Given the description of an element on the screen output the (x, y) to click on. 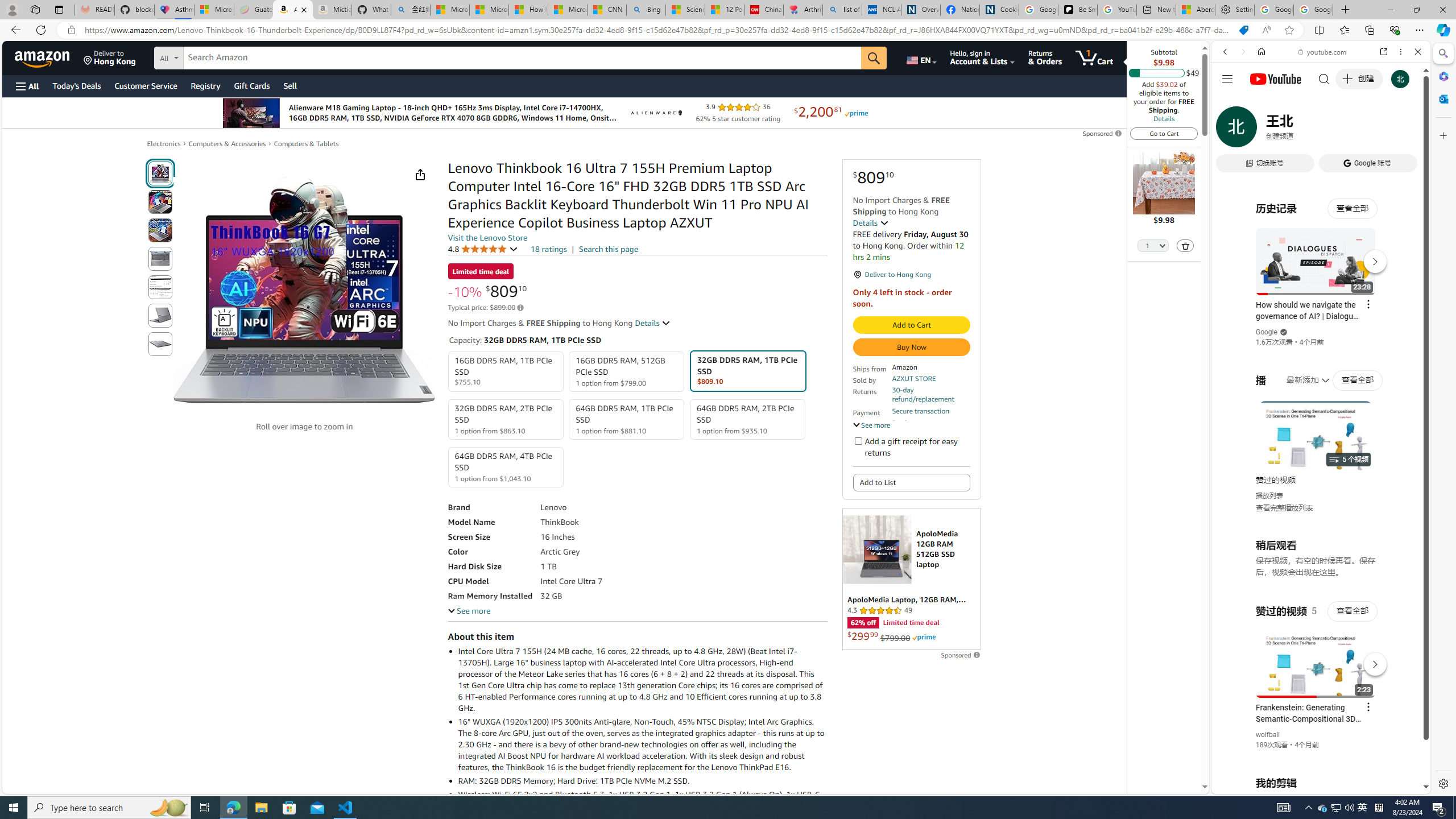
Music (1320, 309)
Registry (205, 85)
Restore (1416, 9)
64GB DDR5 RAM, 1TB PCIe SSD 1 option from $881.10 (626, 418)
wolfball (1268, 734)
Google (1320, 281)
Delete (1184, 245)
Search Filter, Search Tools (1350, 129)
RAM: 32GB DDR5 Memory; Hard Drive: 1TB PCIe NVMe M.2 SSD. (642, 780)
More options (1401, 51)
Amazon (43, 57)
